Given the description of an element on the screen output the (x, y) to click on. 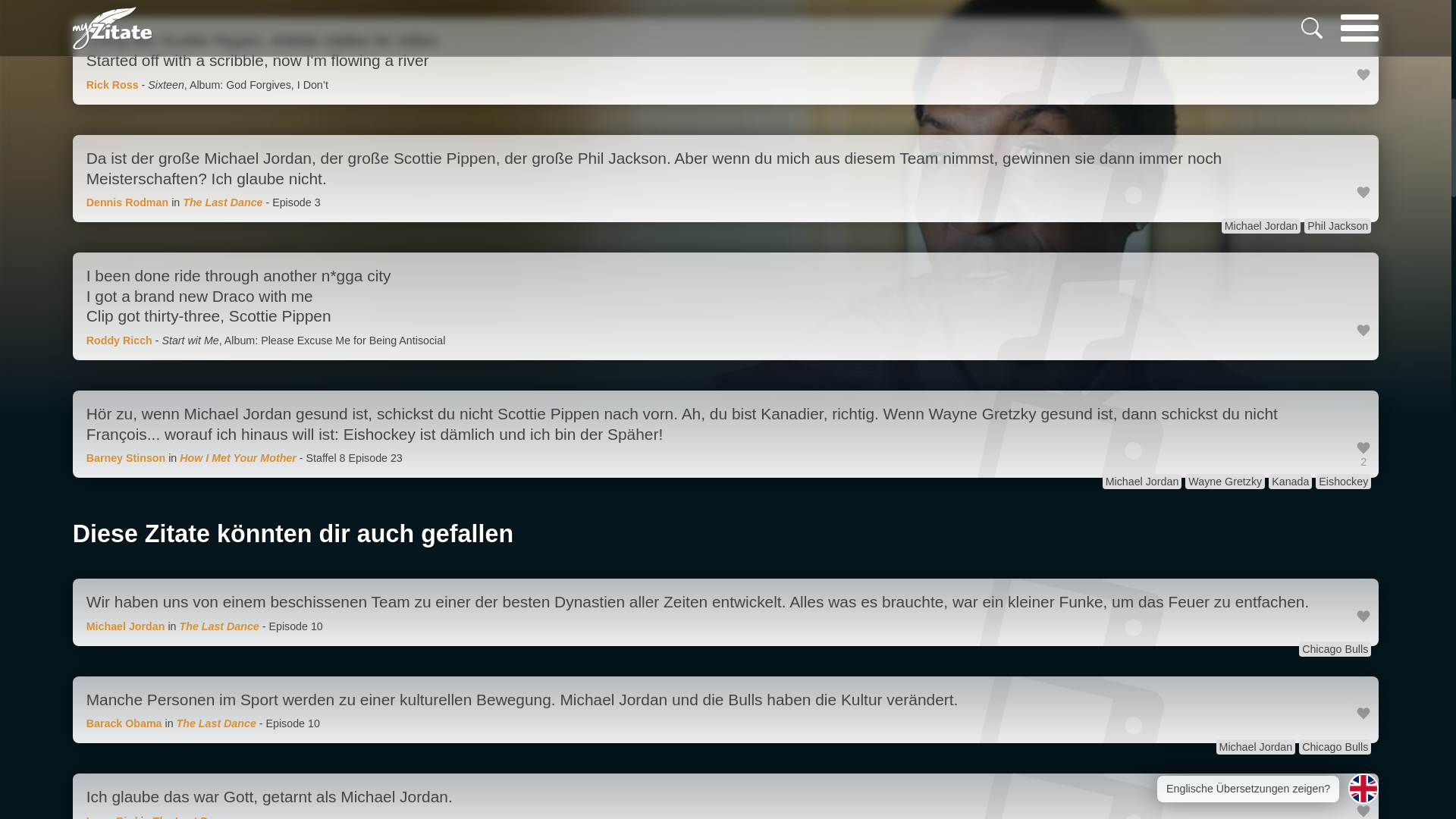
Wayne Gretzky (1225, 480)
Phil Jackson (1337, 225)
How I Met Your Mother (238, 458)
Barack Obama (123, 723)
Chicago Bulls (1334, 746)
The Last Dance (191, 816)
Michael Jordan (125, 625)
Kanada (1289, 480)
Larry Bird (111, 816)
Michael Jordan (1255, 746)
